Given the description of an element on the screen output the (x, y) to click on. 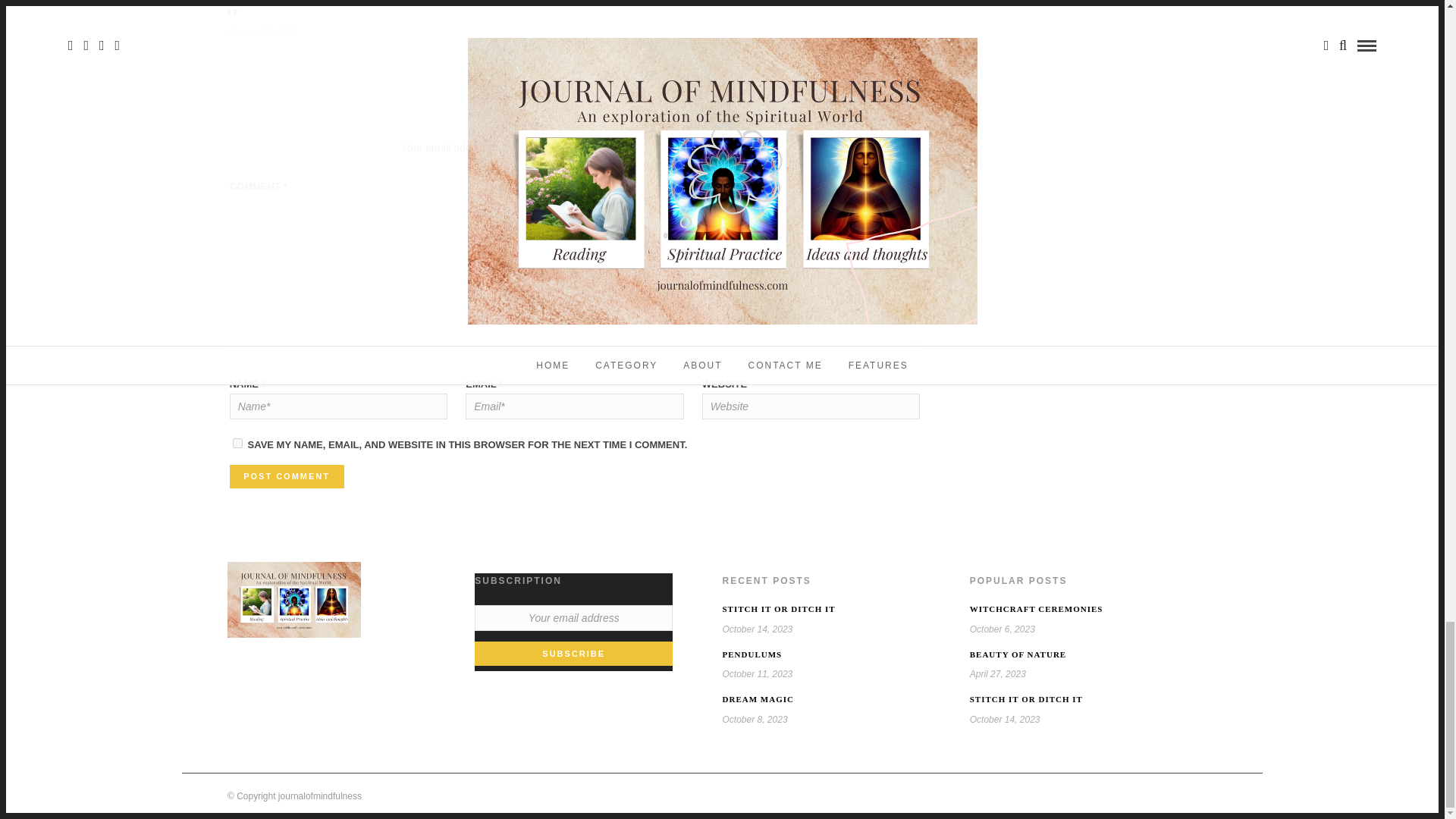
Post Comment (286, 476)
yes (237, 442)
Stitch it or Ditch it (280, 8)
STITCH IT OR DITCH IT (280, 8)
SUBSCRIBE (573, 653)
